Given the description of an element on the screen output the (x, y) to click on. 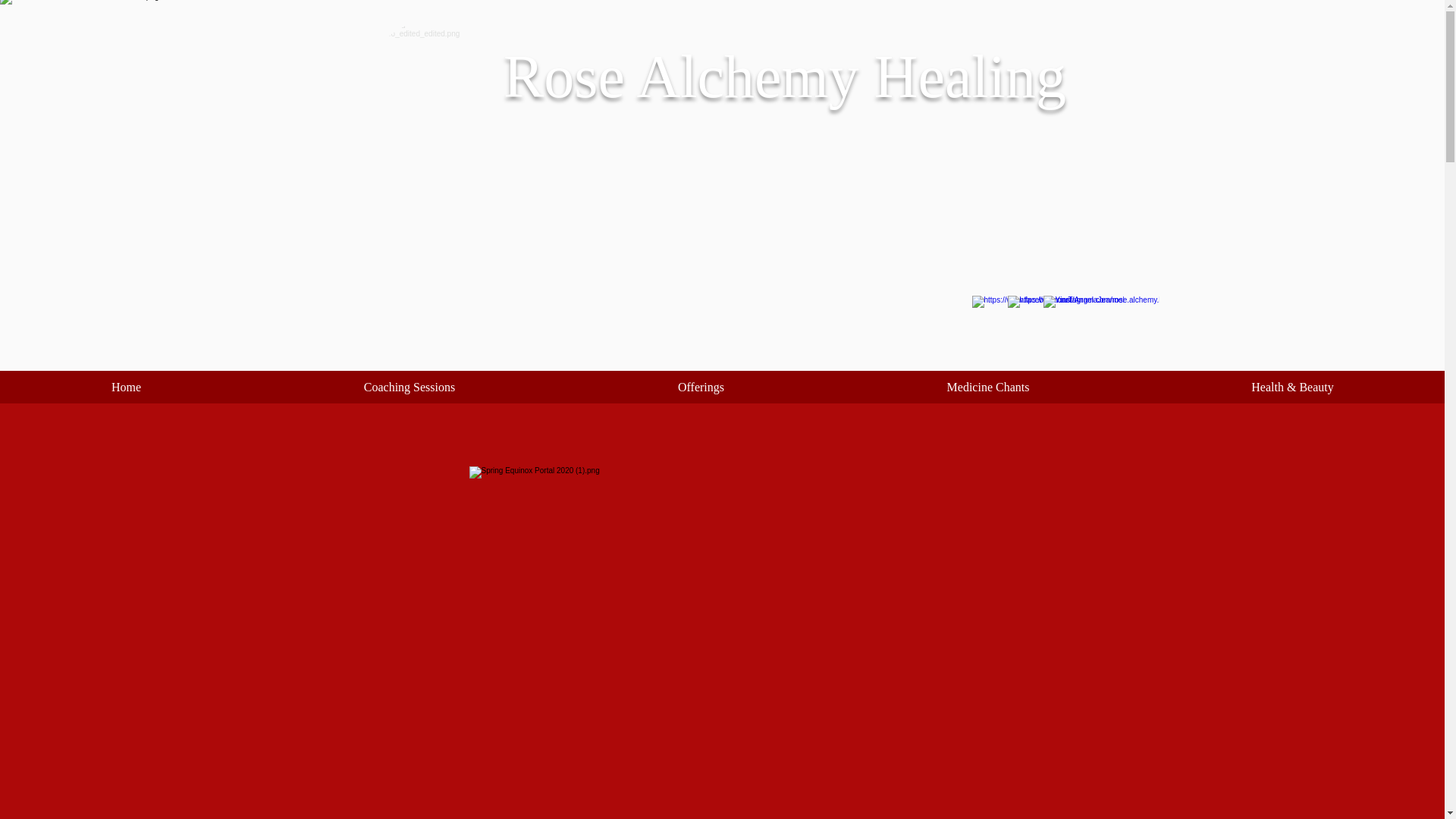
Offerings (700, 392)
Medicine Chants (987, 392)
Coaching Sessions (408, 392)
Home (125, 392)
